Given the description of an element on the screen output the (x, y) to click on. 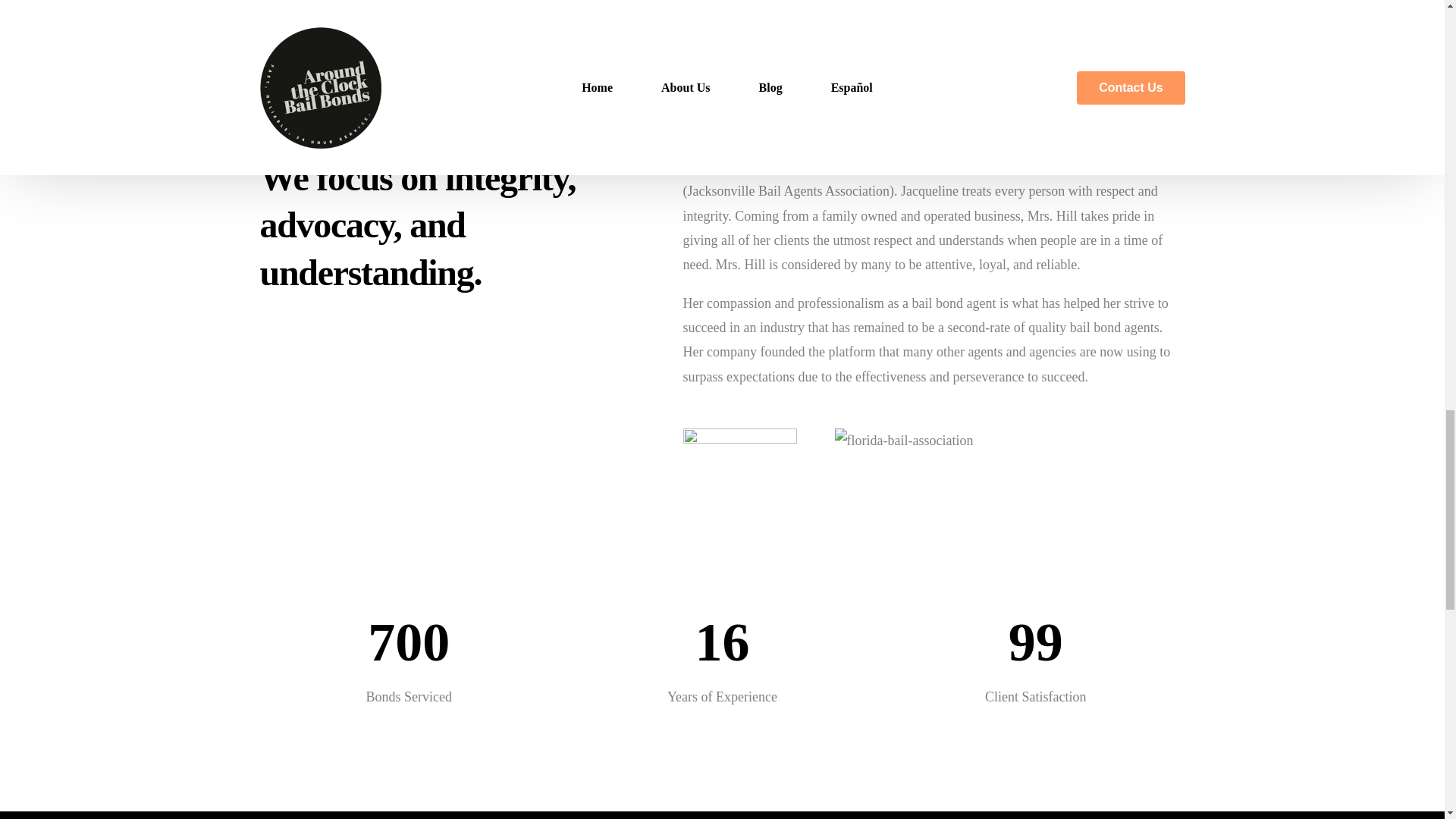
florida-bail-association (903, 440)
